Given the description of an element on the screen output the (x, y) to click on. 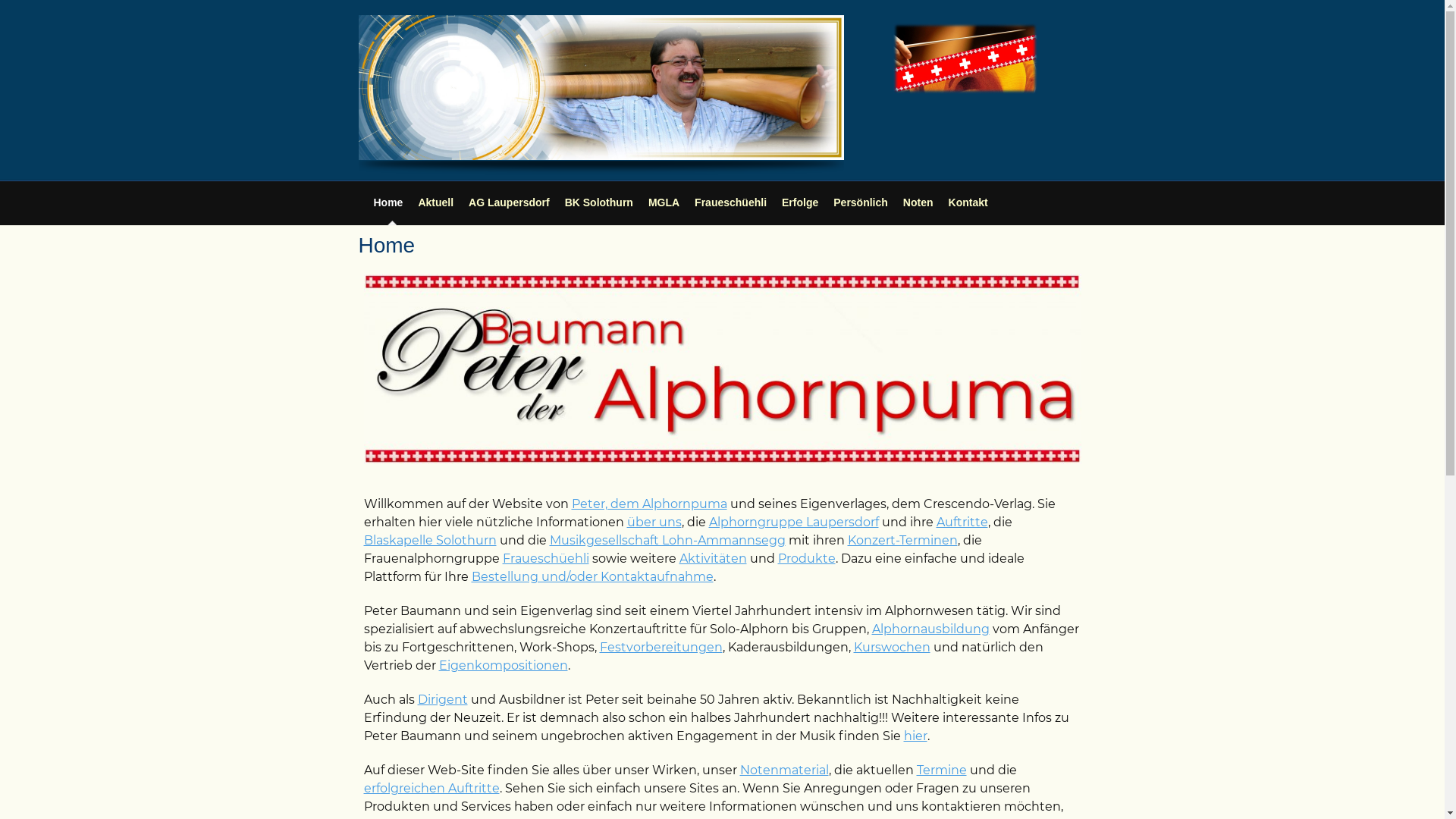
Dirigent Element type: text (442, 699)
Peter, dem Alphornpuma Element type: text (649, 503)
Kurswochen Element type: text (891, 647)
Aktuell Element type: text (435, 202)
Konzert-Terminen Element type: text (902, 540)
Home Element type: text (387, 202)
Termine Element type: text (941, 769)
Kontakt Element type: text (968, 202)
hier Element type: text (915, 735)
Produkte Element type: text (806, 558)
Blaskapelle Solothurn Element type: text (430, 540)
Erfolge Element type: text (799, 202)
erfolgreichen Auftritte Element type: text (431, 788)
Festvorbereitungen Element type: text (660, 647)
Bestellung und/oder Kontaktaufnahme Element type: text (592, 576)
Musikgesellschaft Lohn-Ammannsegg Element type: text (666, 540)
Auftritte Element type: text (961, 521)
Noten Element type: text (918, 202)
BK Solothurn Element type: text (598, 202)
Eigenkompositionen Element type: text (502, 665)
AG Laupersdorf Element type: text (508, 202)
Alphorngruppe Laupersdorf Element type: text (793, 521)
MGLA Element type: text (663, 202)
Alphornausbildung Element type: text (930, 628)
Notenmaterial Element type: text (784, 769)
